Given the description of an element on the screen output the (x, y) to click on. 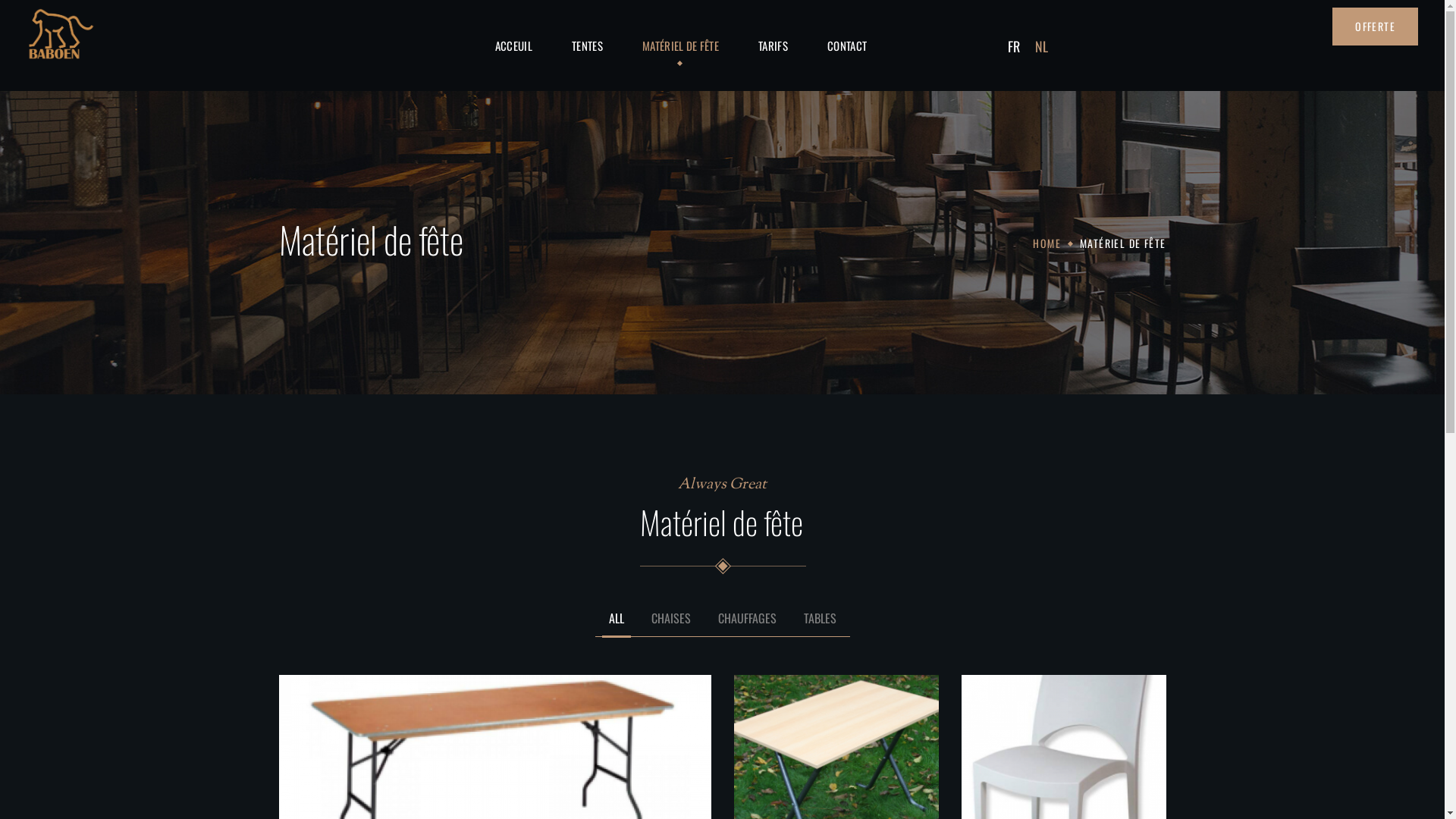
OFFERTE Element type: text (1375, 26)
CHAUFFAGES Element type: text (747, 624)
TABLES Element type: text (819, 624)
ACCEUIL Element type: text (513, 45)
NL Element type: text (1041, 45)
CONTACT Element type: text (846, 45)
TENTES Element type: text (587, 45)
HOME Element type: text (1046, 243)
ALL Element type: text (616, 624)
FR Element type: text (1013, 45)
TARIFS Element type: text (772, 45)
CHAISES Element type: text (670, 624)
